Given the description of an element on the screen output the (x, y) to click on. 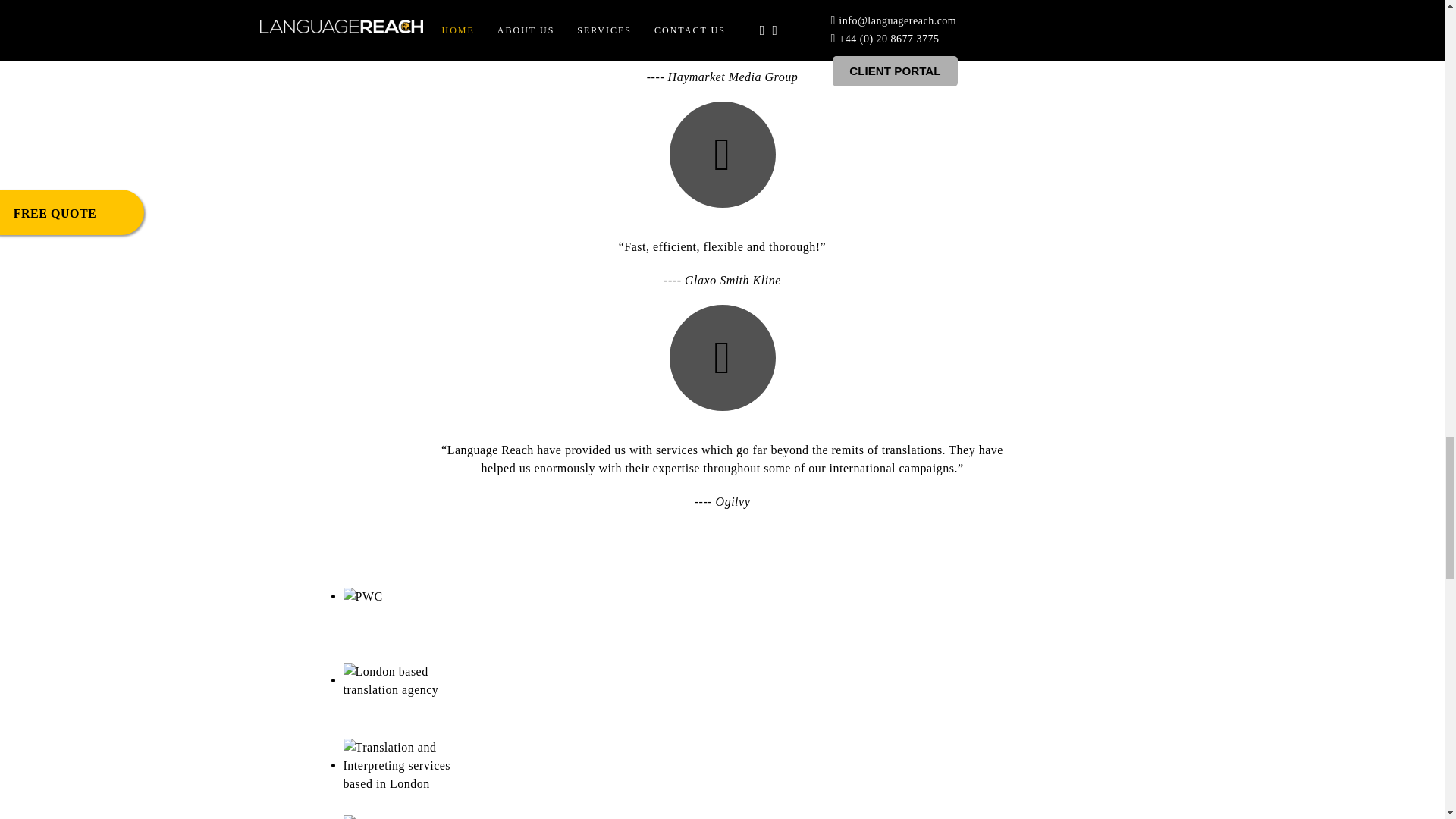
PWC (361, 597)
Translation and Interpreting services based in London (399, 765)
London based translation agency (399, 680)
